Given the description of an element on the screen output the (x, y) to click on. 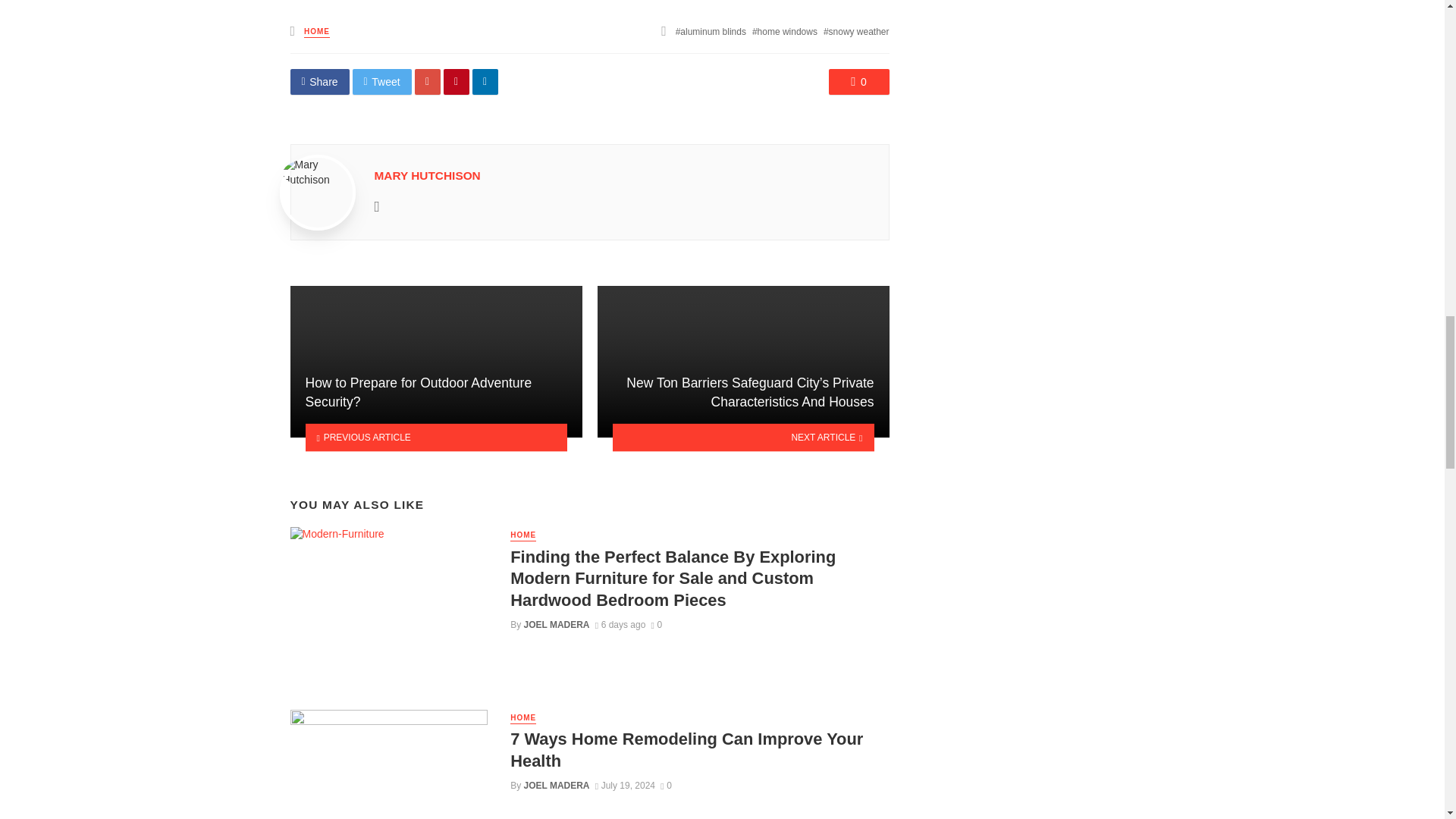
NEXT ARTICLE (742, 438)
JOEL MADERA (556, 624)
Share on Facebook (319, 81)
HOME (523, 535)
MARY HUTCHISON (427, 174)
0 (656, 624)
0 (858, 81)
Share (319, 81)
Share on Pinterest (456, 81)
Tweet (382, 81)
